Given the description of an element on the screen output the (x, y) to click on. 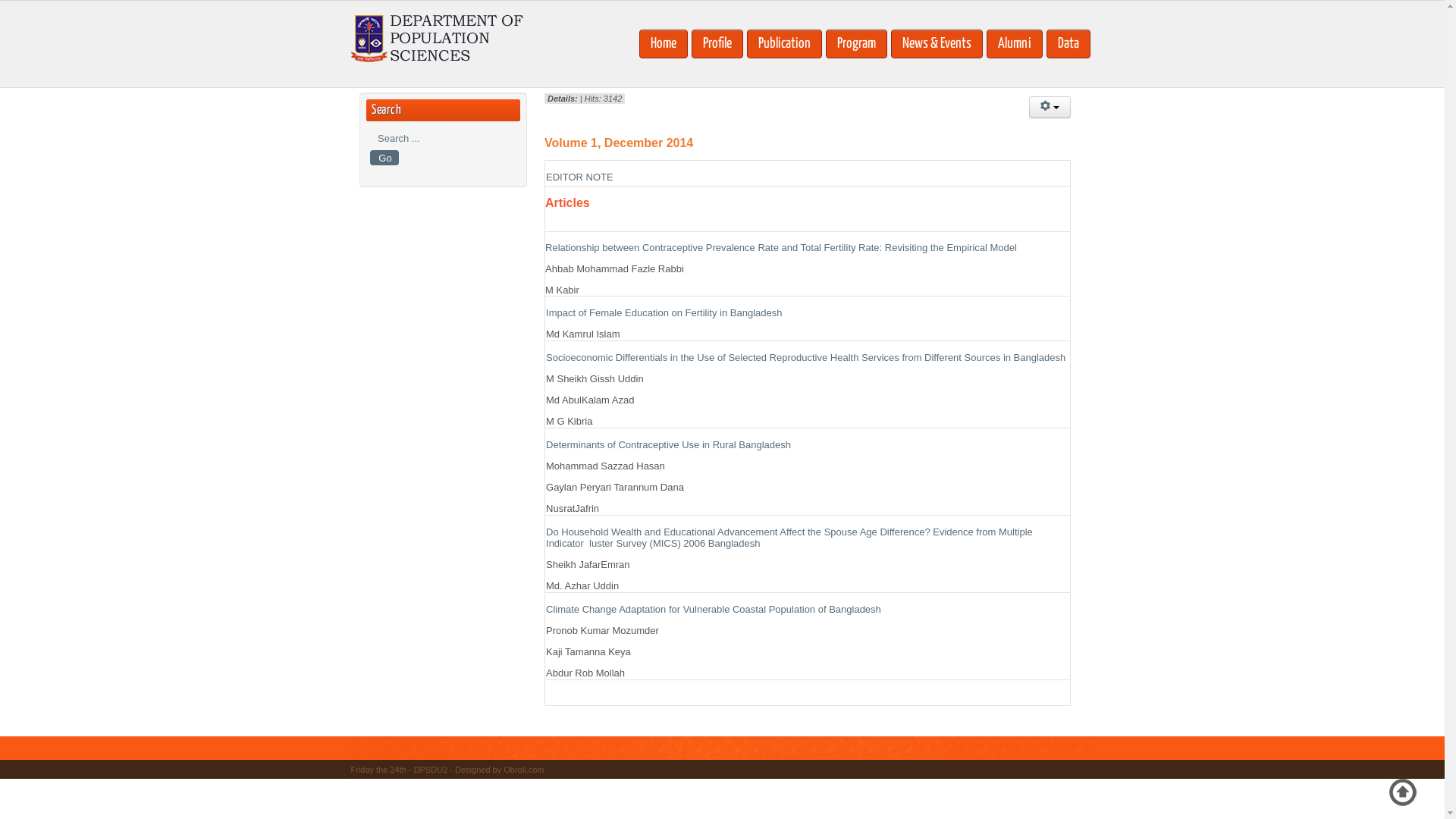
Determinants of Contraceptive Use in Rural Bangladesh Element type: text (668, 444)
News & Events Element type: text (936, 43)
Obroll.com Element type: text (523, 769)
Profile Element type: text (717, 43)
Go Element type: text (384, 157)
Data Element type: text (1068, 43)
Home Element type: text (662, 43)
Impact of Female Education on Fertility in Bangladesh Element type: text (663, 312)
Publication Element type: text (783, 43)
EDITOR NOTE Element type: text (579, 176)
Alumni Element type: text (1013, 43)
Program Element type: text (855, 43)
